Given the description of an element on the screen output the (x, y) to click on. 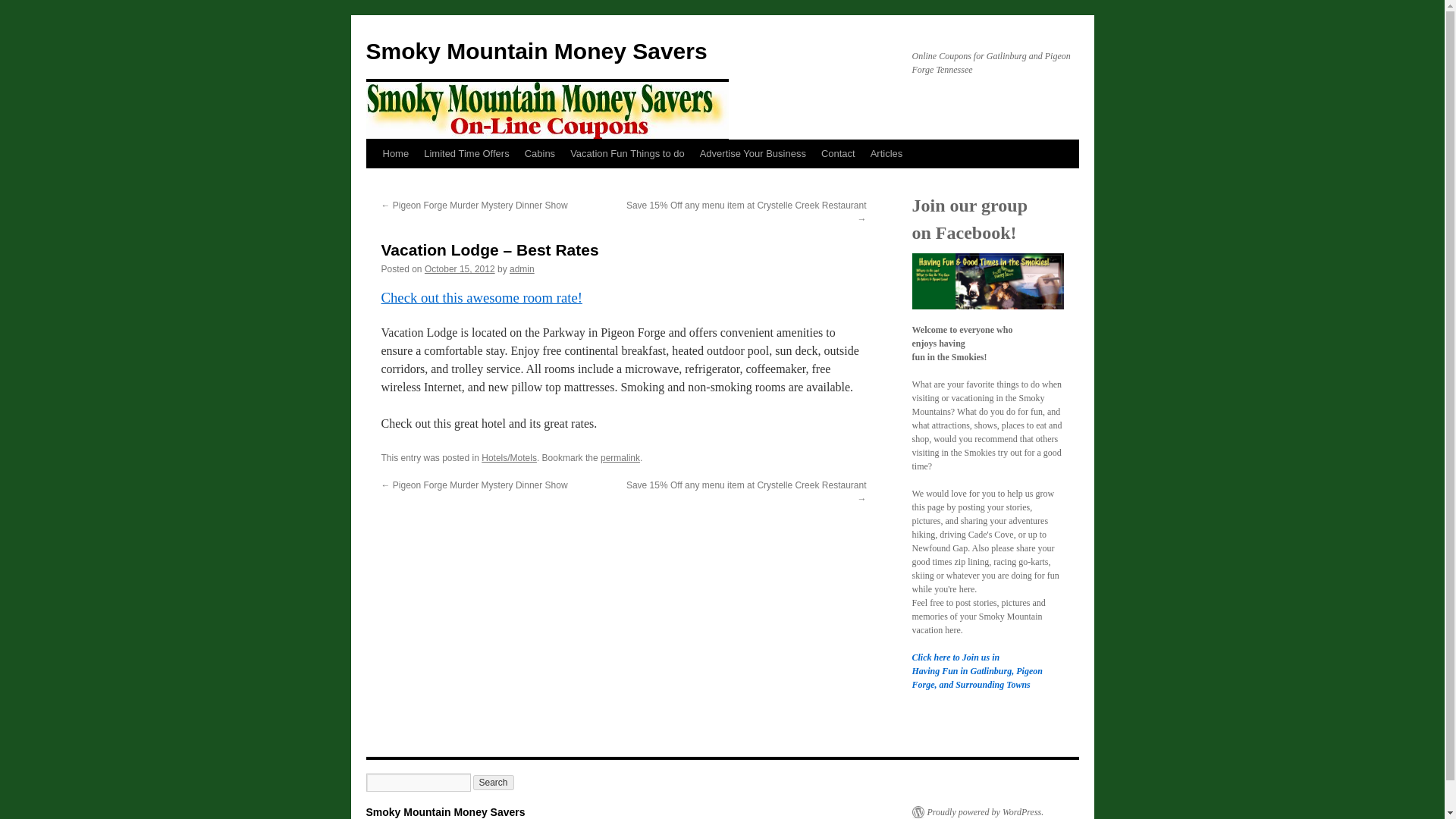
Contact (838, 153)
Articles (887, 153)
Check out this awesome room rate! (480, 297)
Advertise Your Business (753, 153)
Smoky Mountain Money Savers (535, 50)
Home (395, 153)
admin (521, 268)
View all posts by admin (521, 268)
permalink (619, 457)
October 15, 2012 (460, 268)
Search (493, 782)
Cabins (539, 153)
Limited Time Offers (466, 153)
Search (493, 782)
